Given the description of an element on the screen output the (x, y) to click on. 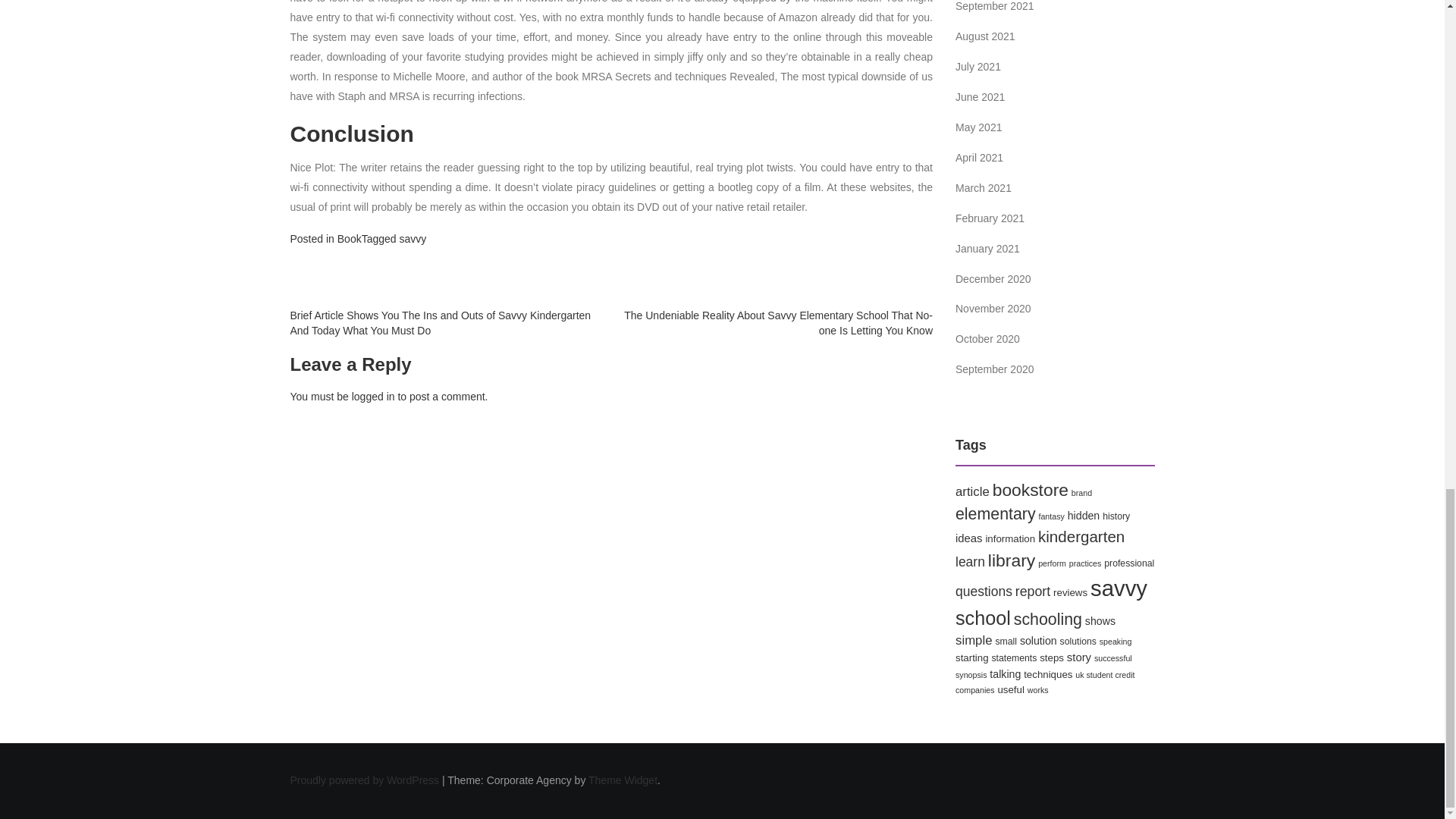
July 2021 (978, 66)
September 2021 (994, 6)
April 2021 (979, 157)
savvy (412, 238)
February 2021 (990, 218)
January 2021 (987, 248)
May 2021 (978, 127)
logged in (373, 396)
Book (349, 238)
August 2021 (984, 36)
June 2021 (979, 96)
March 2021 (983, 187)
